Given the description of an element on the screen output the (x, y) to click on. 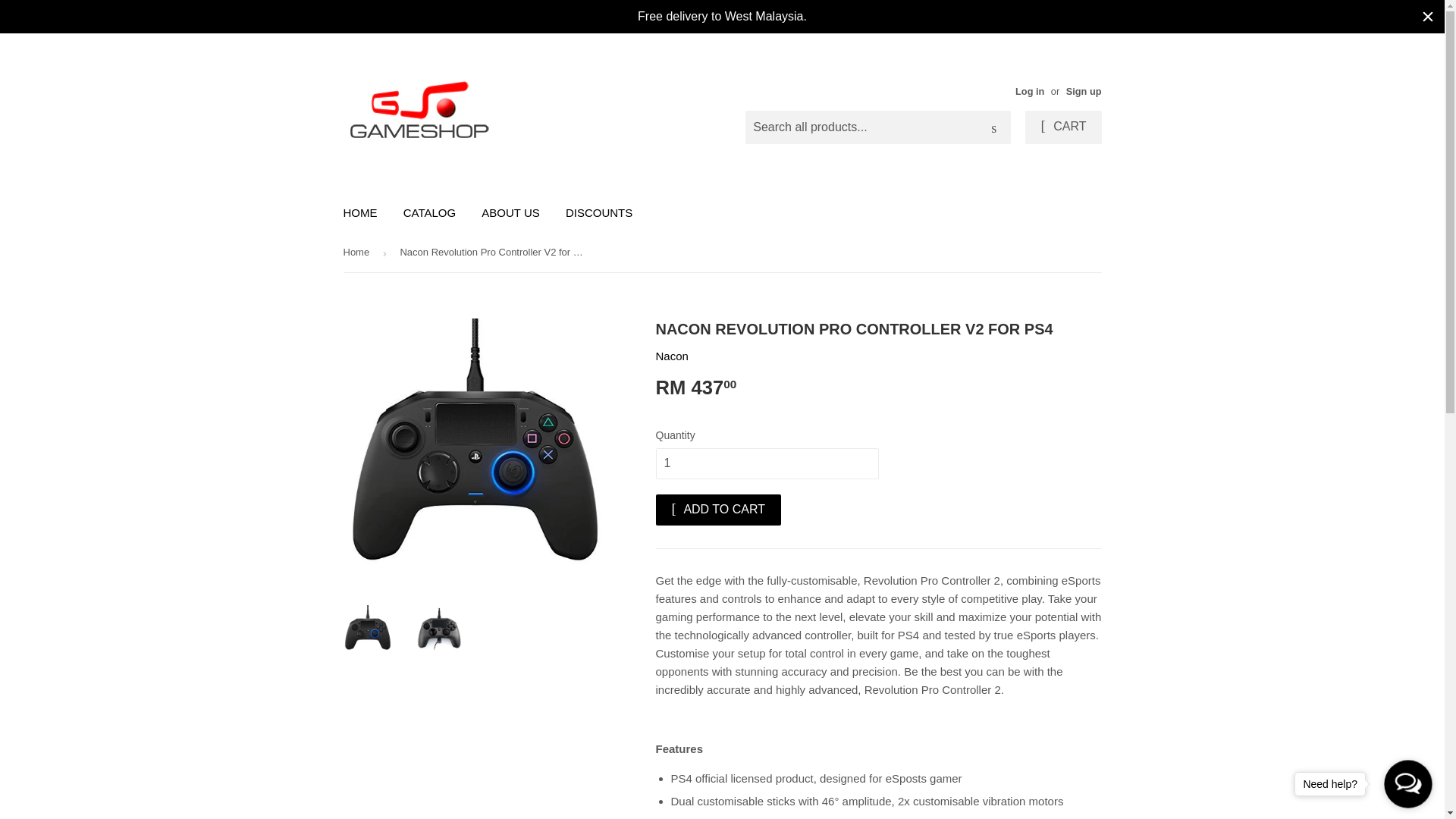
Search (993, 128)
Sign up (1083, 91)
Log in (1028, 91)
DISCOUNTS (598, 212)
ABOUT US (510, 212)
1 (766, 463)
HOME (359, 212)
CART (1062, 127)
Nacon (671, 355)
ADD TO CART (717, 509)
CATALOG (429, 212)
Nacon (671, 355)
